Given the description of an element on the screen output the (x, y) to click on. 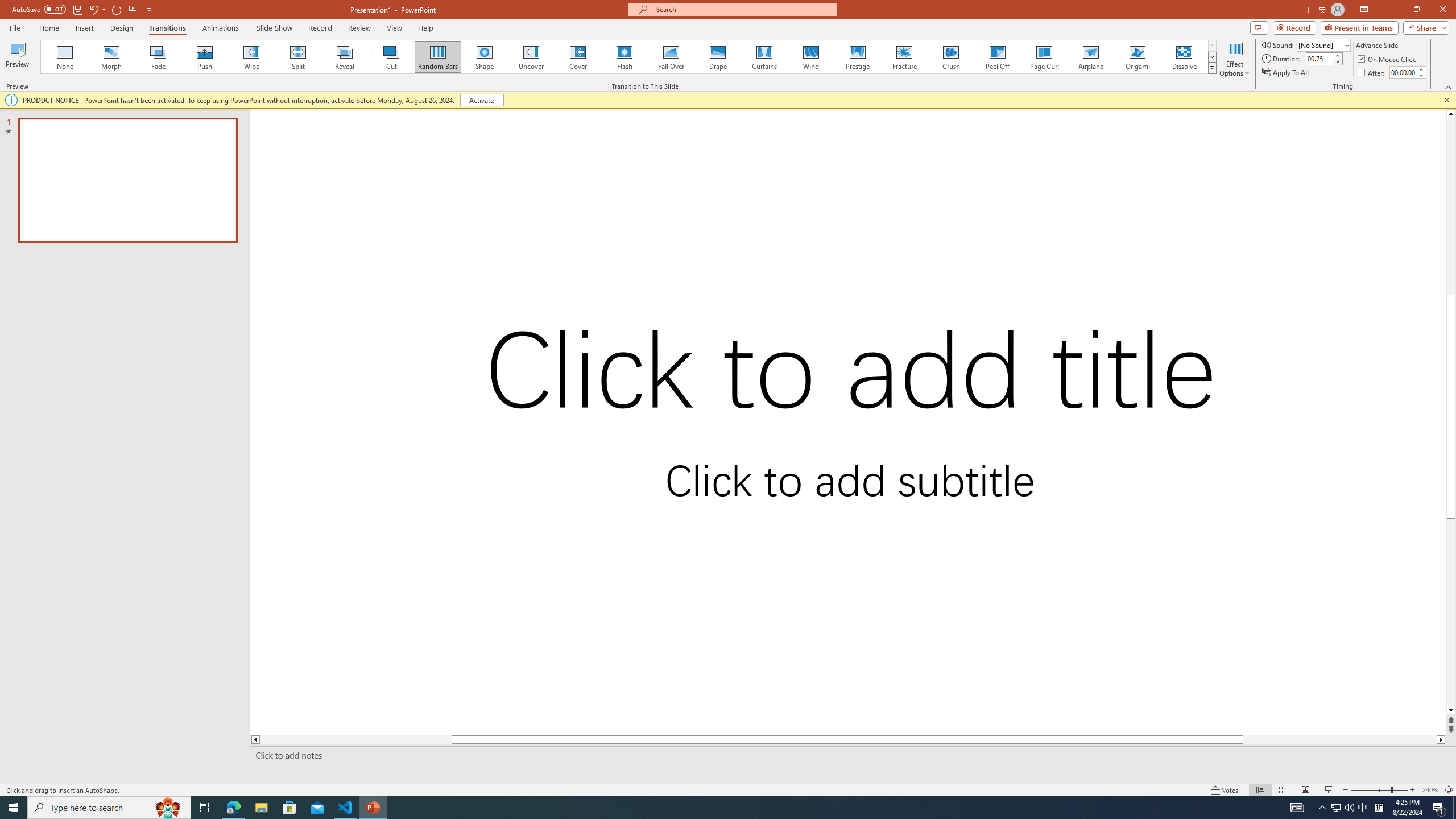
Drape (717, 56)
Duration (1319, 58)
Push (205, 56)
